Given the description of an element on the screen output the (x, y) to click on. 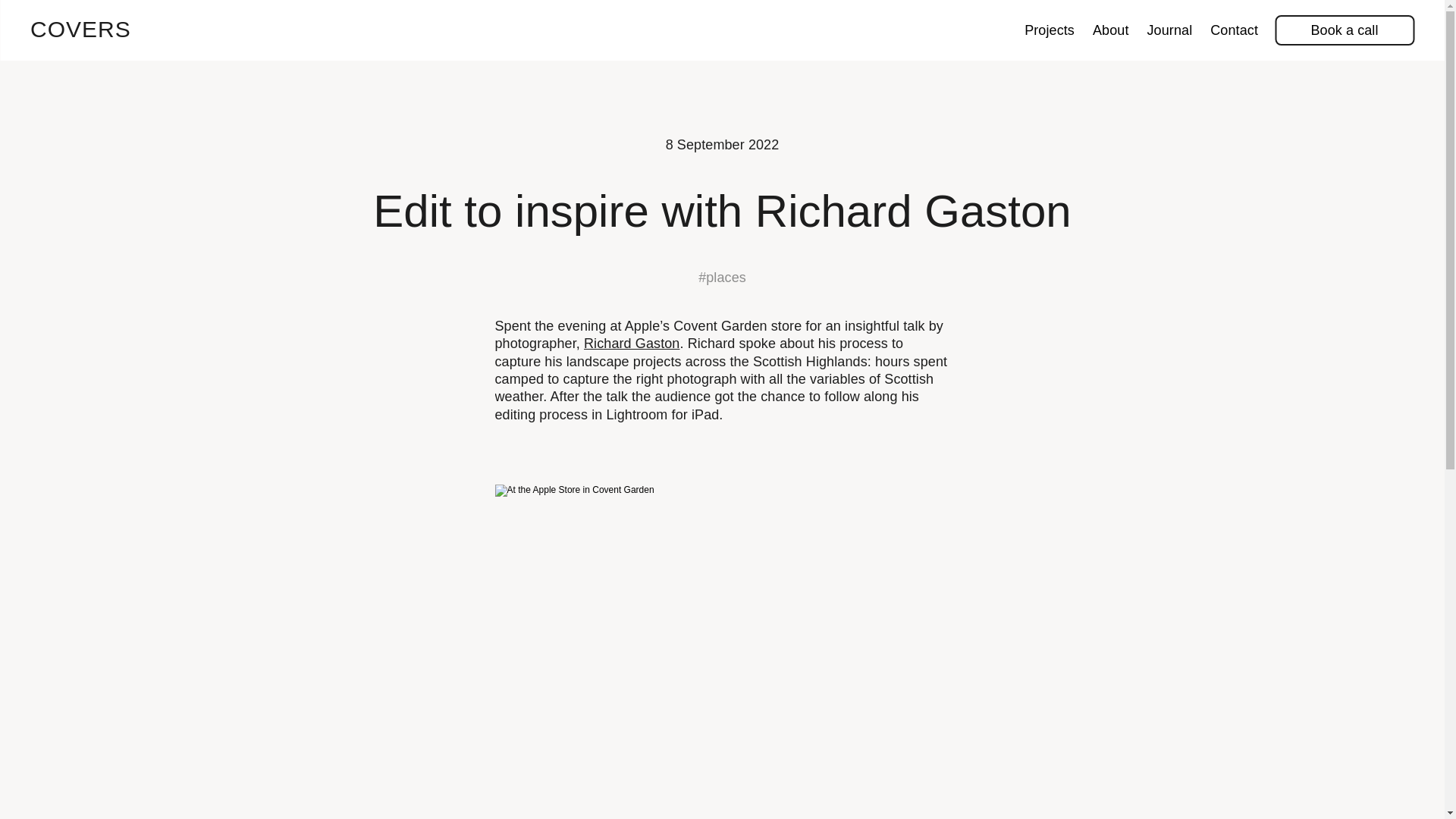
Richard Gaston (631, 343)
Contact (1233, 30)
About (1110, 30)
Projects (1048, 30)
COVERS (80, 28)
Book a call (1344, 30)
Journal (1170, 30)
